Given the description of an element on the screen output the (x, y) to click on. 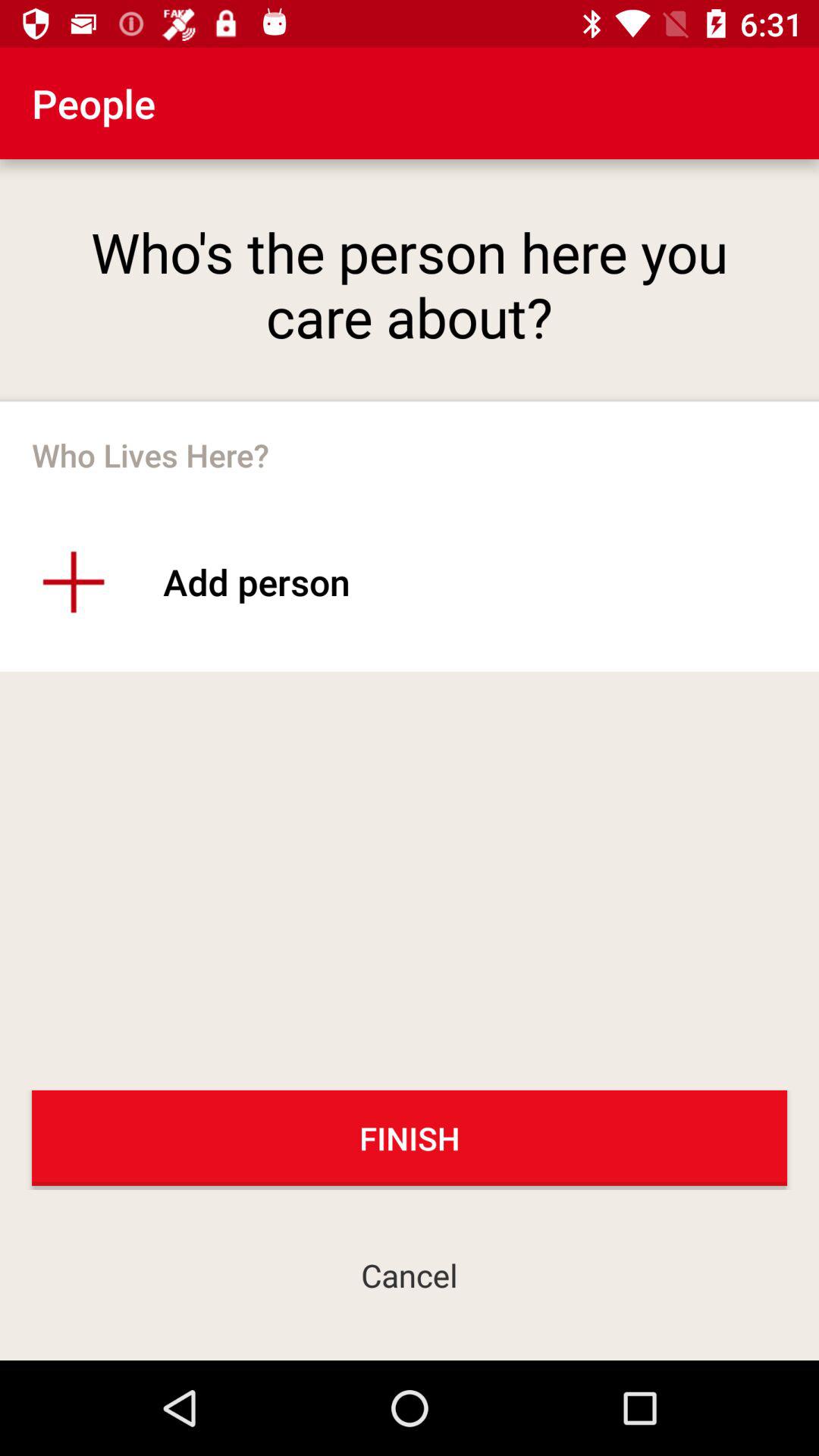
jump until cancel (409, 1274)
